Given the description of an element on the screen output the (x, y) to click on. 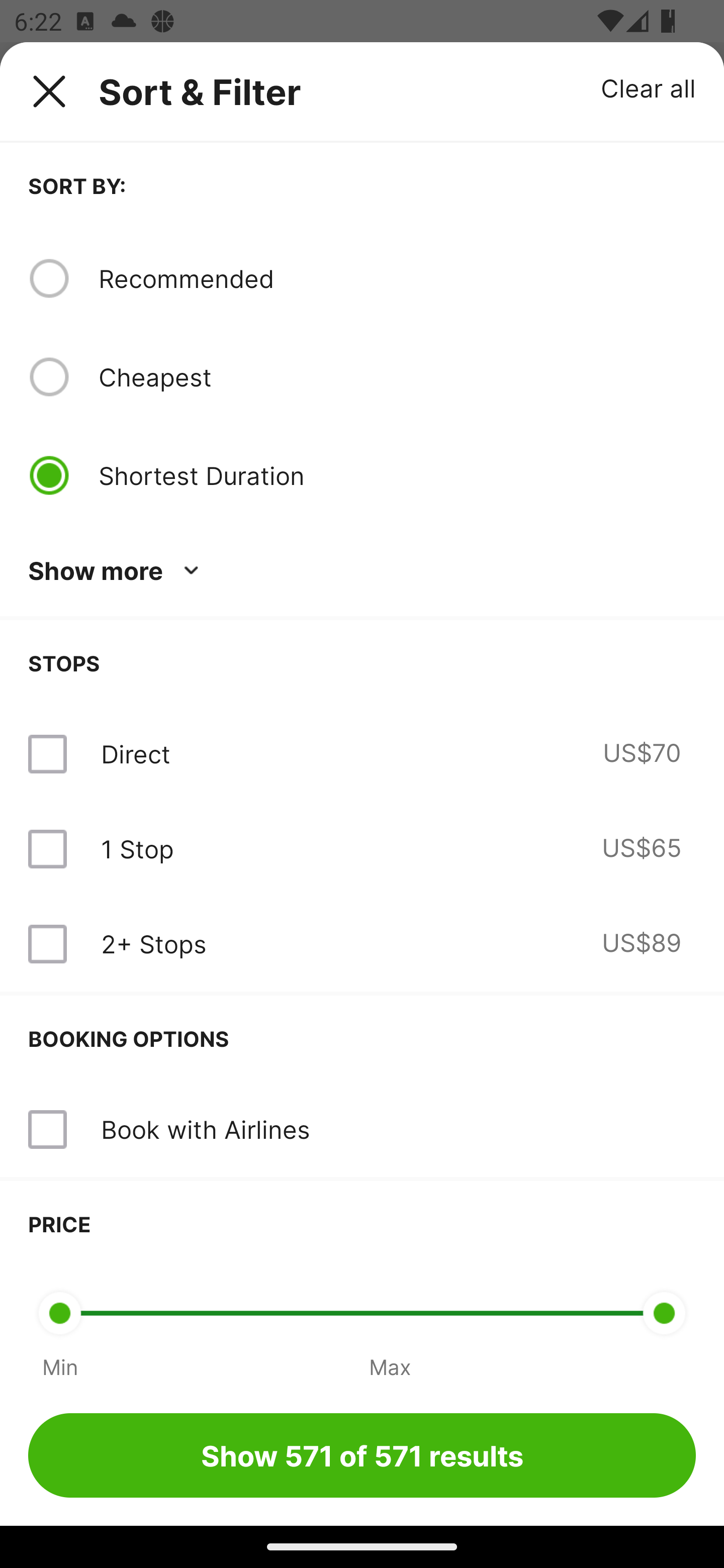
Clear all (648, 87)
Recommended  (396, 278)
Cheapest (396, 377)
Shortest Duration (396, 474)
Show more (116, 570)
Direct US$70 (362, 754)
Direct (135, 753)
1 Stop US$65 (362, 848)
1 Stop (136, 849)
2+ Stops US$89 (362, 943)
2+ Stops (153, 943)
Book with Airlines (362, 1129)
Book with Airlines (204, 1128)
Show 571 of 571 results (361, 1454)
